Given the description of an element on the screen output the (x, y) to click on. 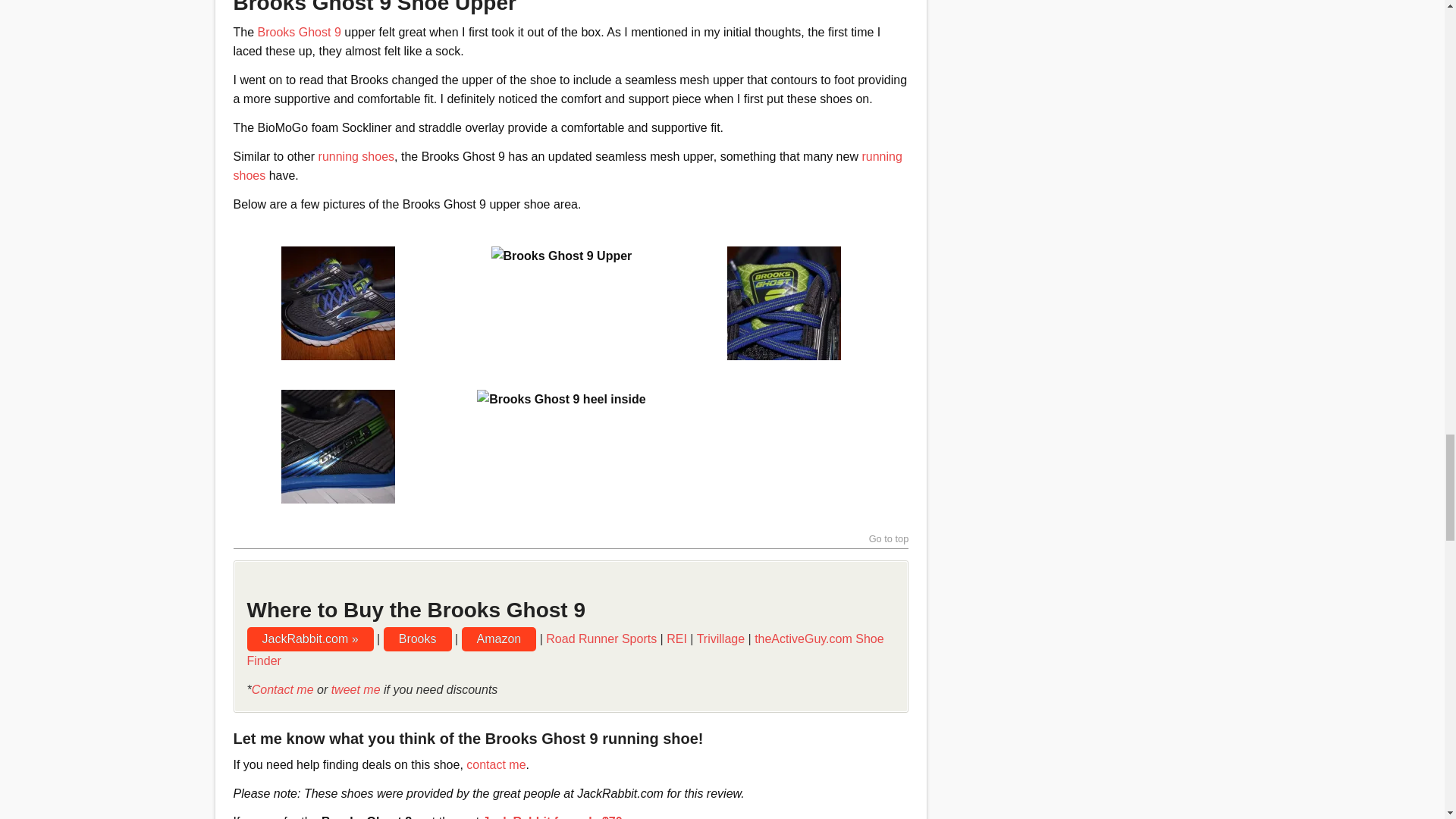
Shop Trivillage - Brooks Glycerin 3 (298, 31)
Contact the Active Guy (495, 764)
